Given the description of an element on the screen output the (x, y) to click on. 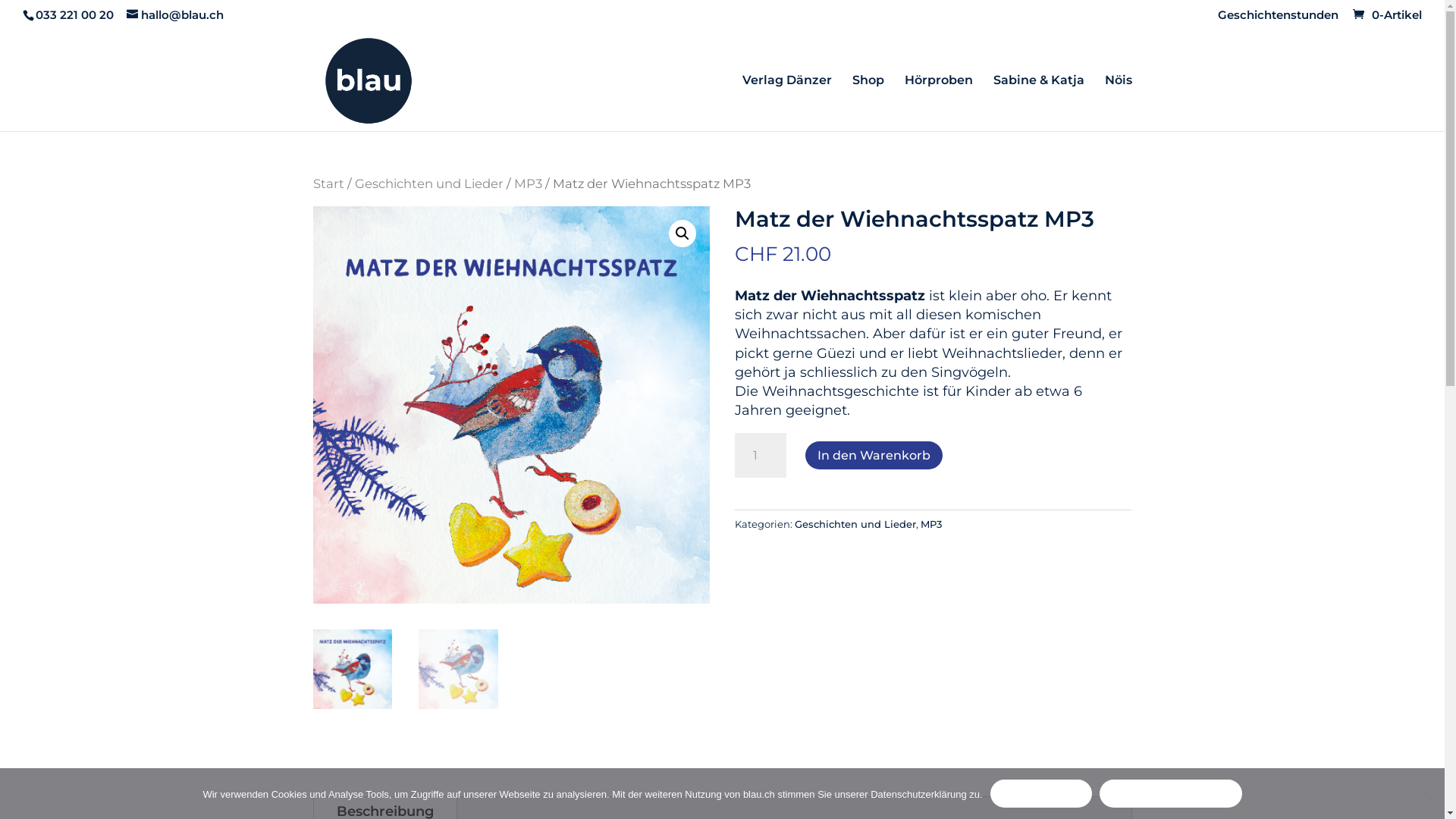
Start Element type: text (327, 183)
Nein Element type: hover (1425, 793)
hallo@blau.ch Element type: text (174, 14)
0-Artikel Element type: text (1385, 14)
Matz der Wiehnachtsspatz MP3 Element type: hover (510, 404)
In den Warenkorb Element type: text (873, 455)
Geschichtenstunden Element type: text (1277, 18)
Einverstanden Element type: text (1041, 793)
Geschichten und Lieder Element type: text (428, 183)
MP3 Element type: text (930, 523)
Shop Element type: text (868, 102)
Sabine & Katja Element type: text (1038, 102)
Geschichten und Lieder Element type: text (855, 523)
MP3 Element type: text (528, 183)
